Given the description of an element on the screen output the (x, y) to click on. 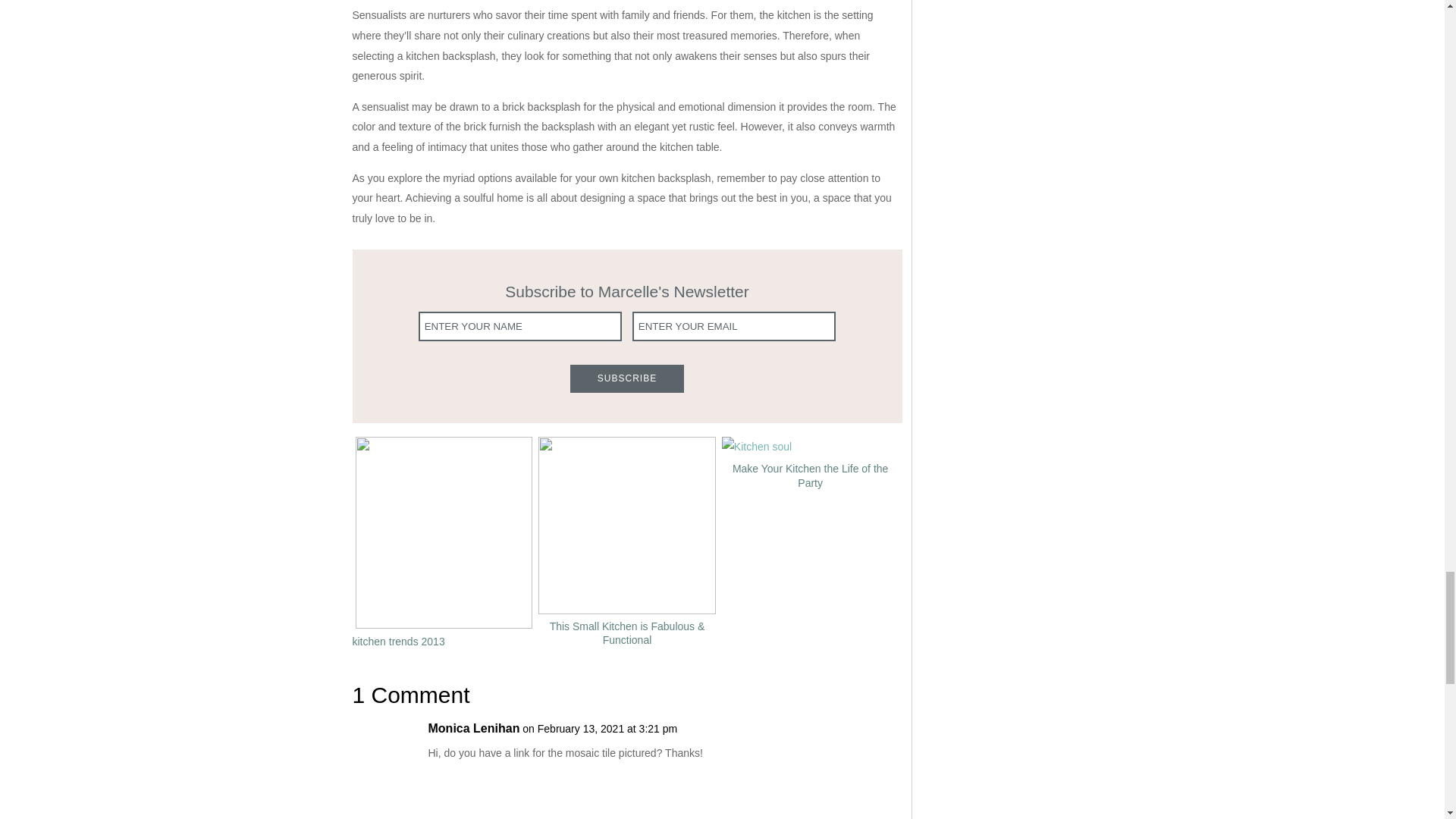
Subscribe (627, 378)
Subscribe (627, 378)
kitchen trends 2013 (398, 640)
ENTER YOUR NAME (521, 326)
ENTER YOUR EMAIL (733, 326)
